Given the description of an element on the screen output the (x, y) to click on. 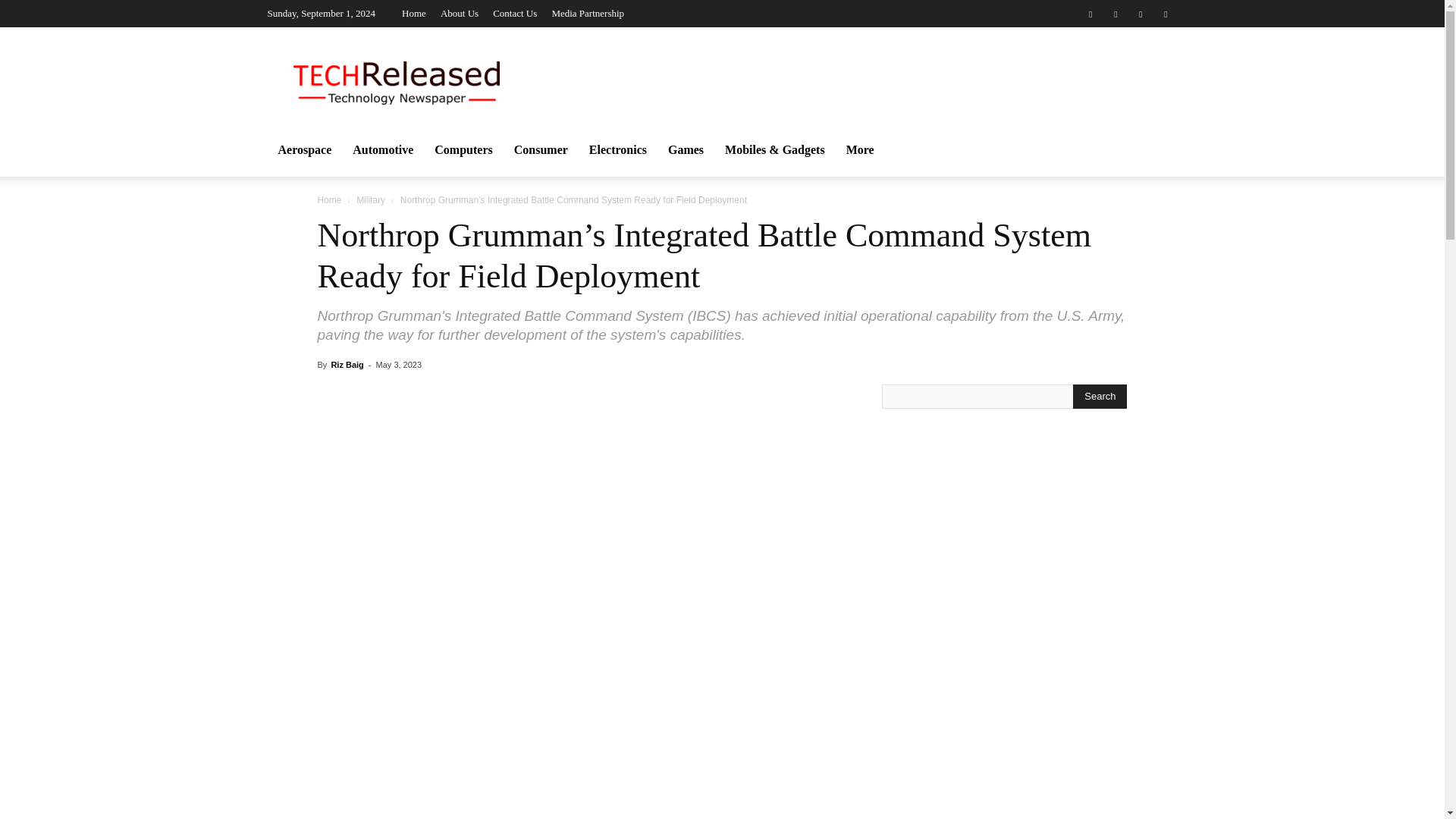
Automotive (382, 149)
Media Partnership (587, 12)
About Us (460, 12)
Contact Us (515, 12)
Search (1099, 396)
Consumer (540, 149)
Aerospace (304, 149)
Computers (462, 149)
Home (413, 12)
Games (686, 149)
